Given the description of an element on the screen output the (x, y) to click on. 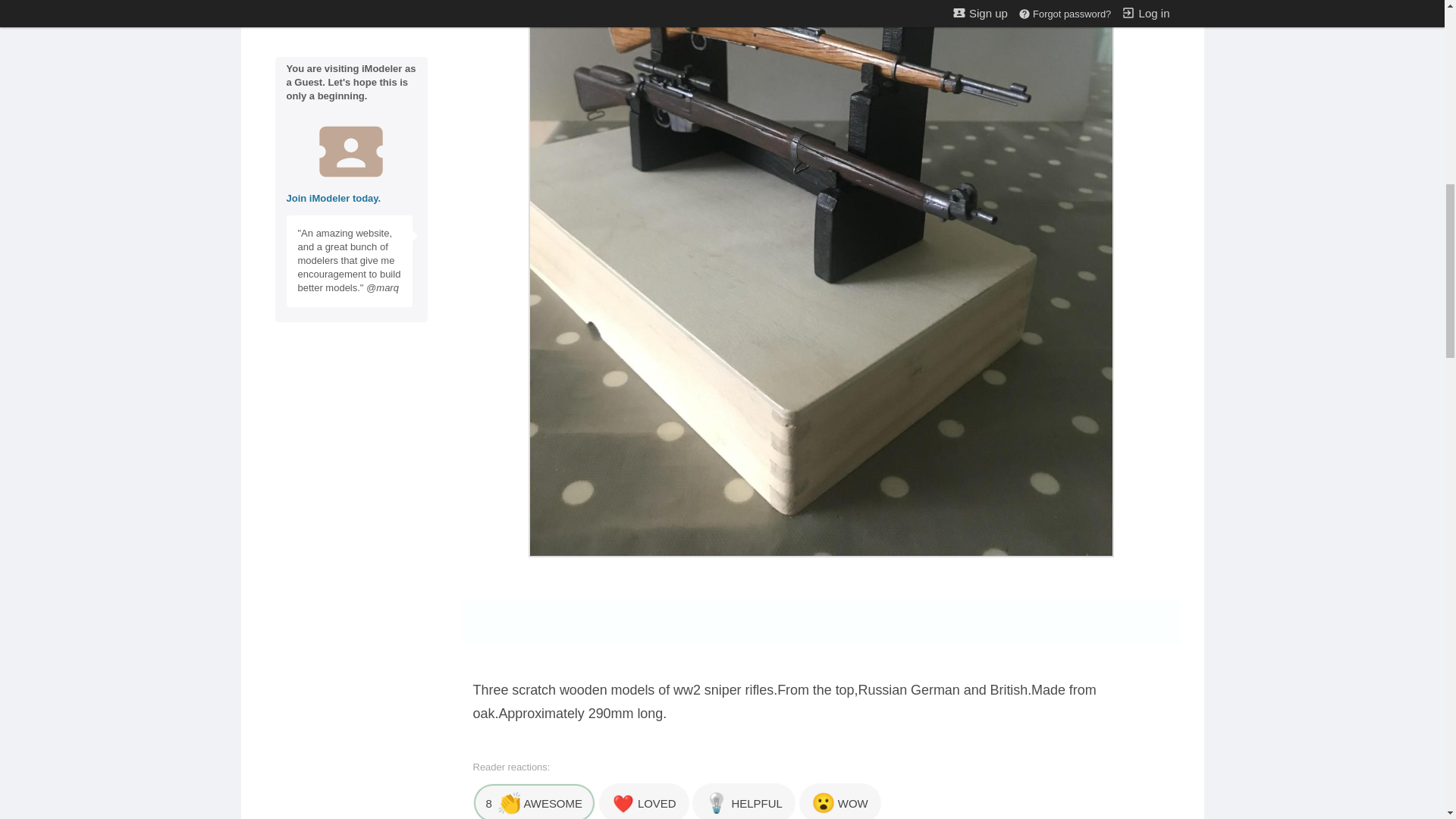
LOVED (643, 800)
I learned something! (743, 800)
Amazing! (839, 800)
8  AWESOME (534, 800)
HELPFUL (743, 800)
I'm fond of this (643, 800)
WOW (839, 800)
Great effort! (534, 800)
